Given the description of an element on the screen output the (x, y) to click on. 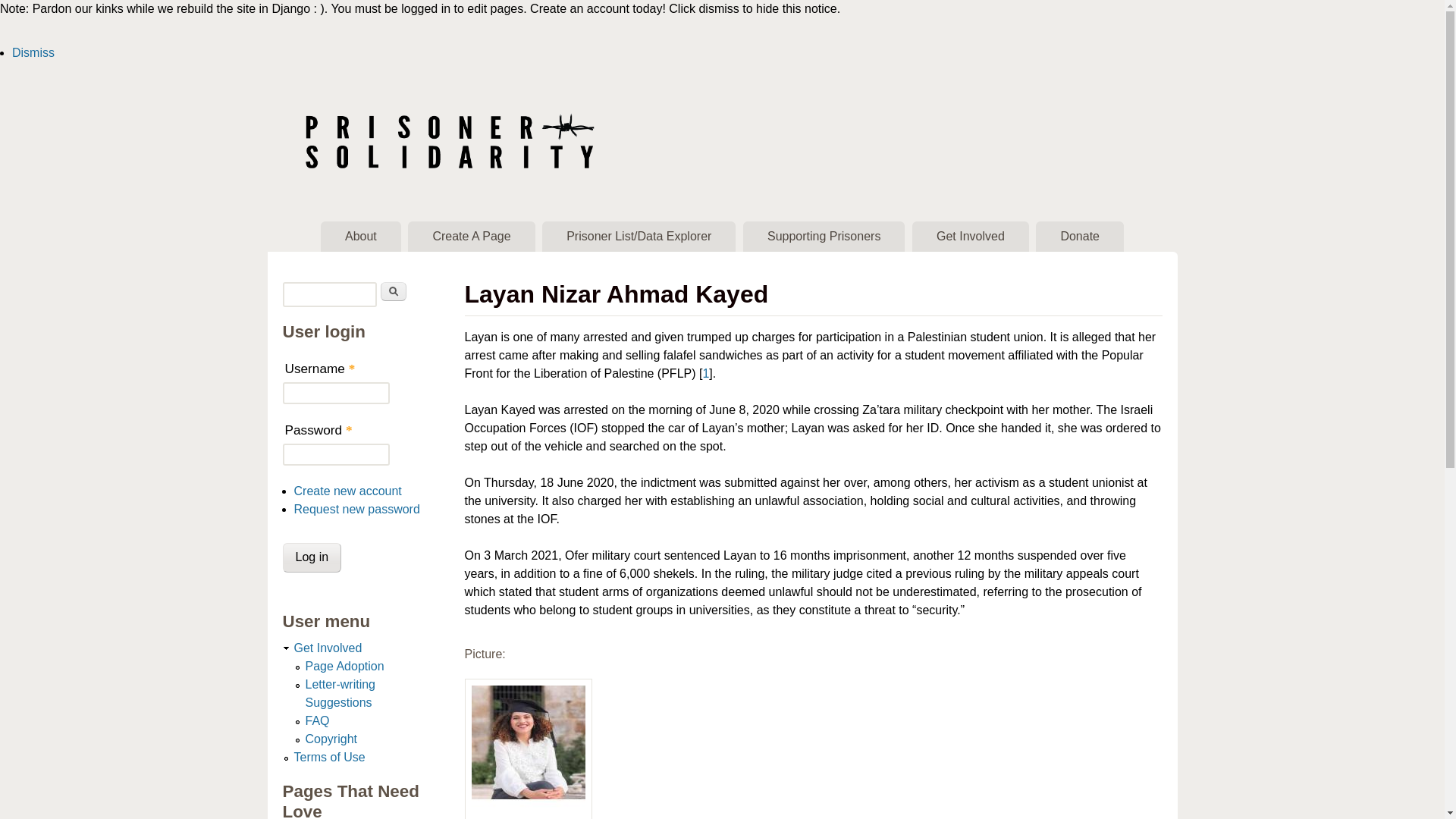
Dismiss (33, 51)
Donate (1079, 236)
Get Involved (328, 647)
Search (393, 291)
Copyright (330, 738)
Search (393, 291)
Log in (311, 557)
Enter the terms you wish to search for. (328, 294)
FAQ (316, 720)
About (360, 236)
